Given the description of an element on the screen output the (x, y) to click on. 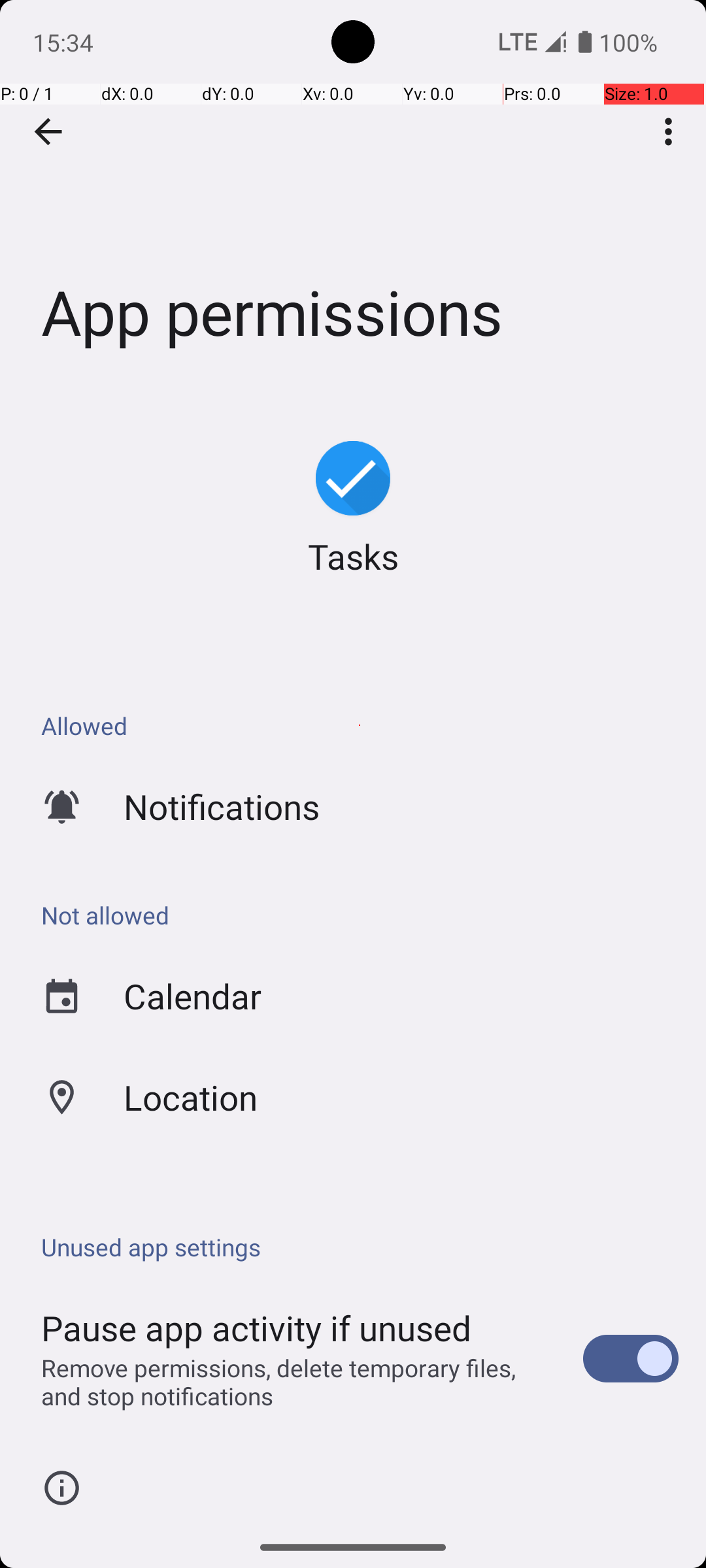
App permissions Element type: android.widget.FrameLayout (353, 195)
Allowed Element type: android.widget.TextView (359, 725)
Not allowed Element type: android.widget.TextView (359, 914)
Unused app settings Element type: android.widget.TextView (359, 1246)
Pause app activity if unused Element type: android.widget.TextView (256, 1327)
Remove permissions, delete temporary files, and stop notifications Element type: android.widget.TextView (298, 1381)
To protect your data, if the app is unused for a few months, the following permissions will be removed: Notifications Element type: android.widget.TextView (359, 1520)
